Given the description of an element on the screen output the (x, y) to click on. 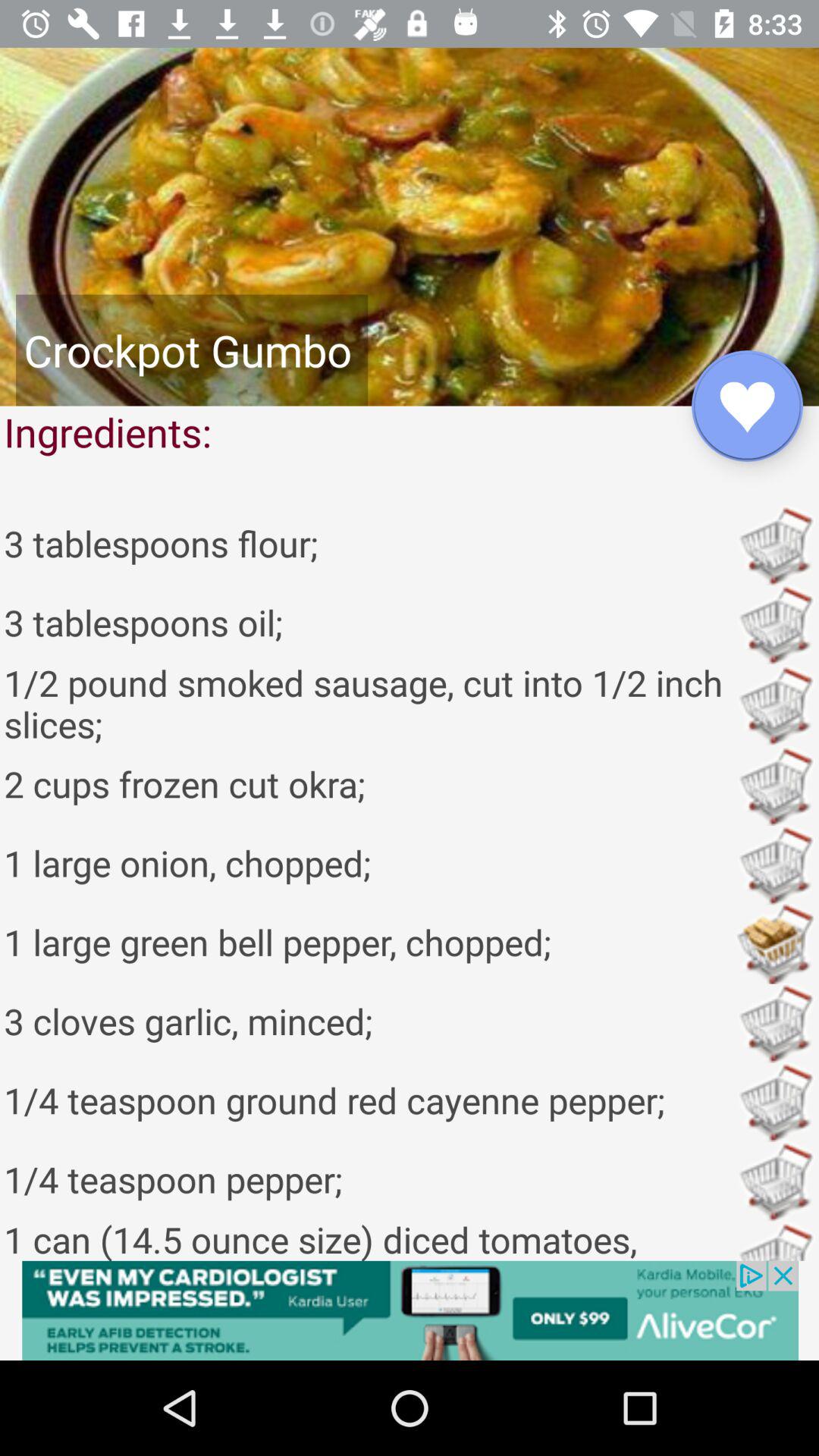
opens advertisement (409, 1310)
